Given the description of an element on the screen output the (x, y) to click on. 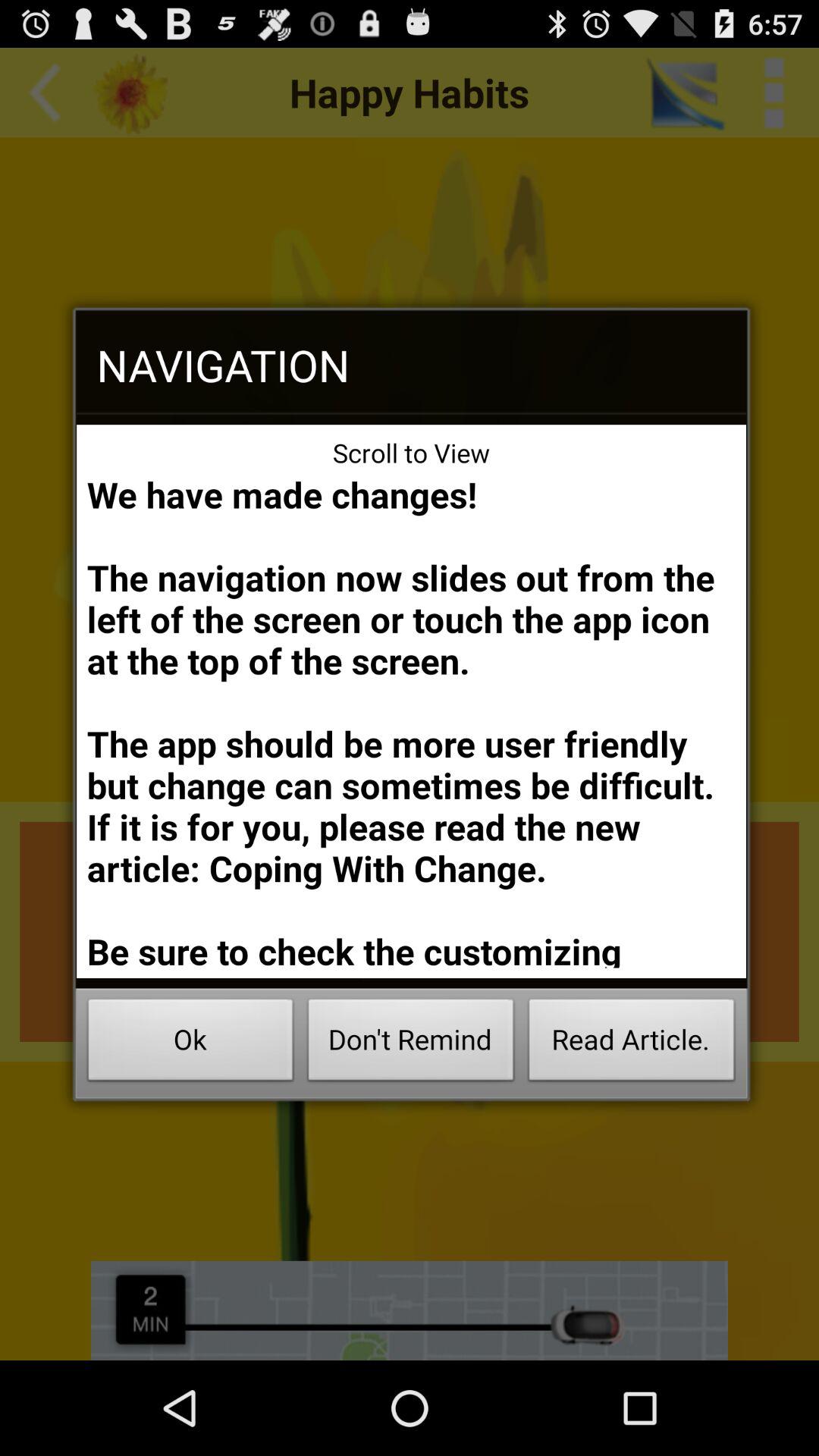
scroll until don't remind button (410, 1044)
